Given the description of an element on the screen output the (x, y) to click on. 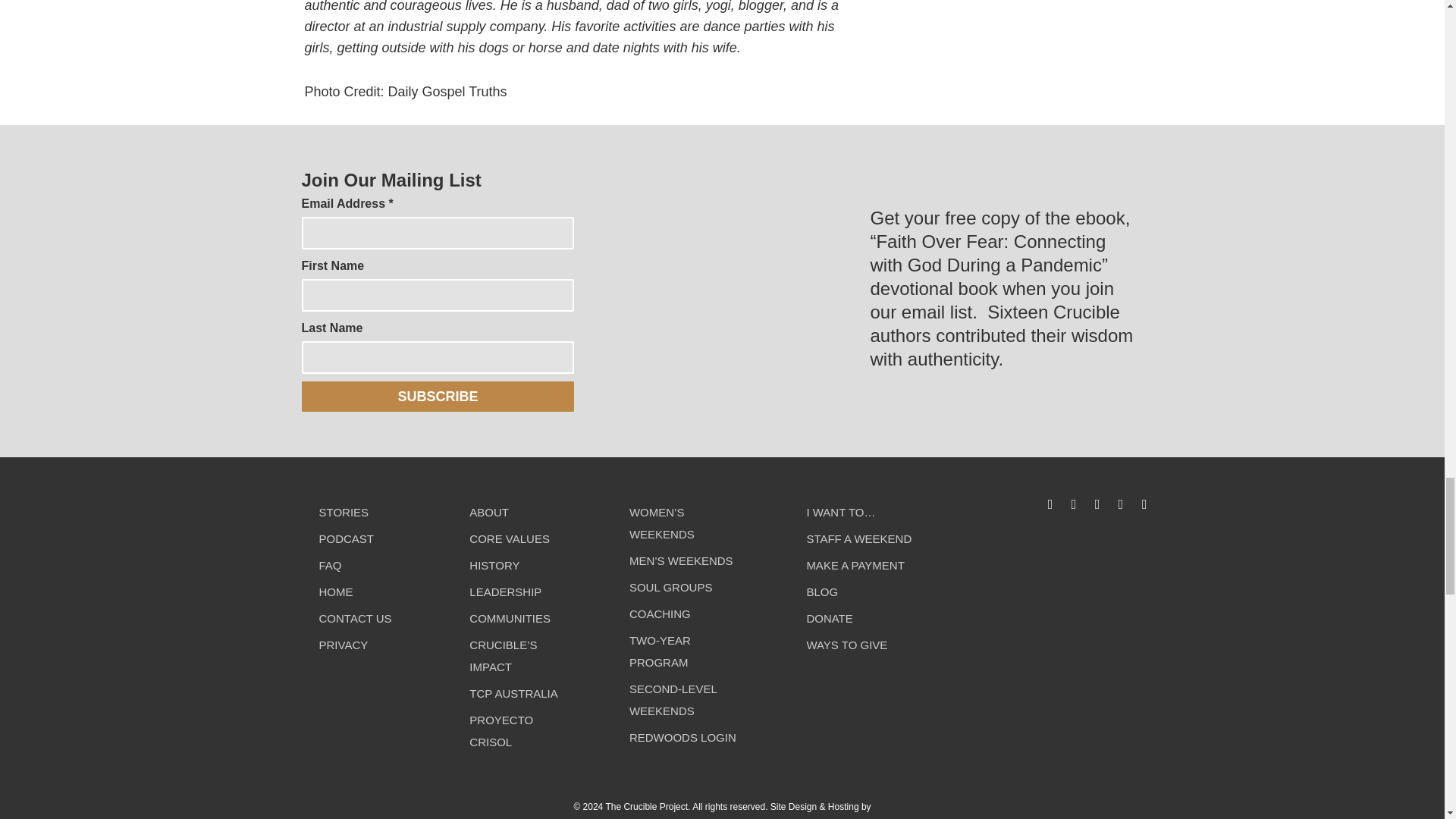
Subscribe (438, 396)
